Given the description of an element on the screen output the (x, y) to click on. 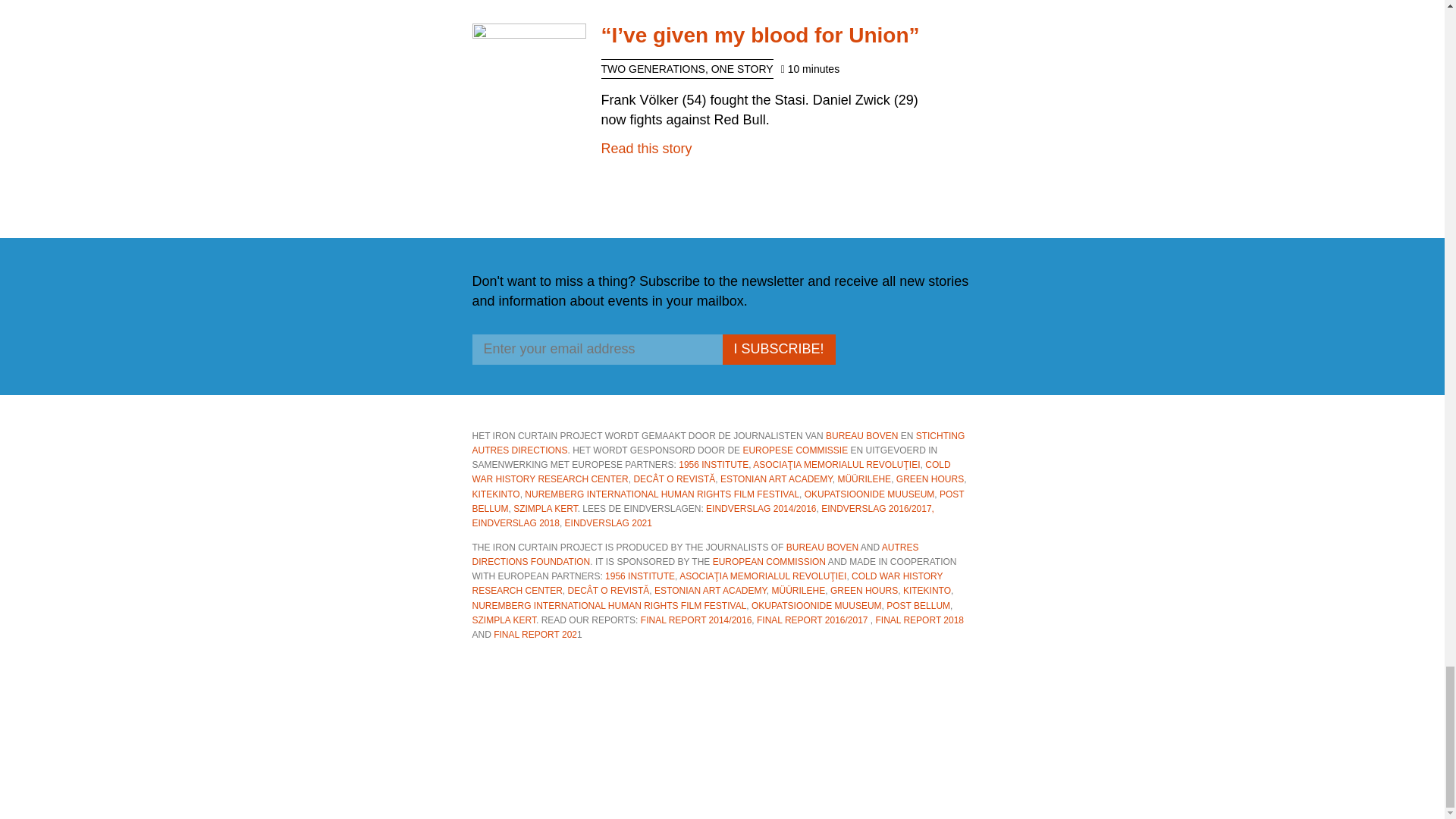
COLD WAR HISTORY RESEARCH CENTER (710, 471)
ESTONIAN ART ACADEMY (776, 479)
STICHTING AUTRES DIRECTIONS (717, 442)
I SUBSCRIBE! (778, 349)
EUROPESE COMMISSIE (794, 450)
BUREAU BOVEN (861, 435)
1956 INSTITUTE (713, 464)
Read this story (645, 148)
